Given the description of an element on the screen output the (x, y) to click on. 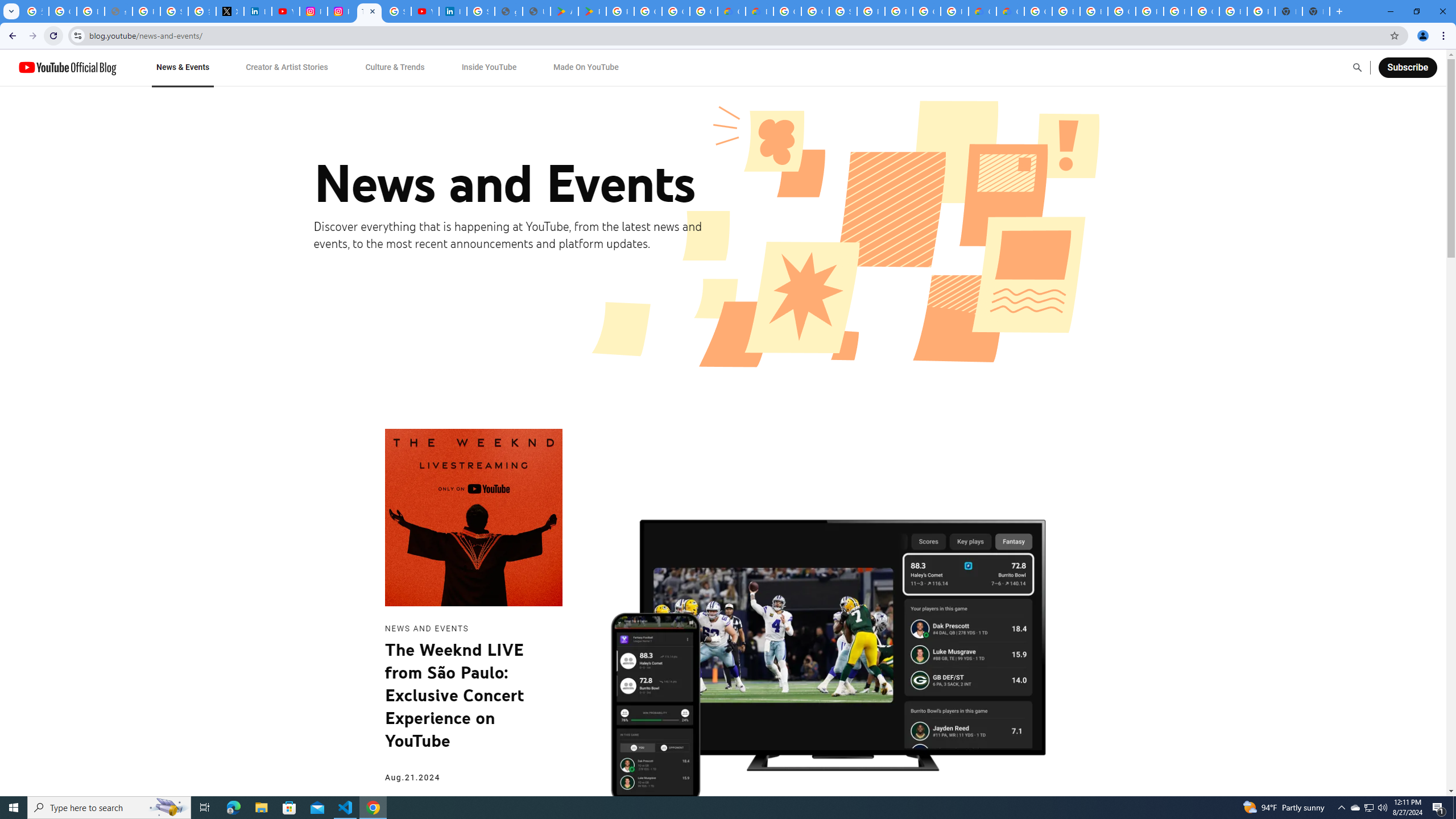
Google Cloud Platform (1121, 11)
Inside YouTube (488, 67)
Browse Chrome as a guest - Computer - Google Chrome Help (1065, 11)
